Given the description of an element on the screen output the (x, y) to click on. 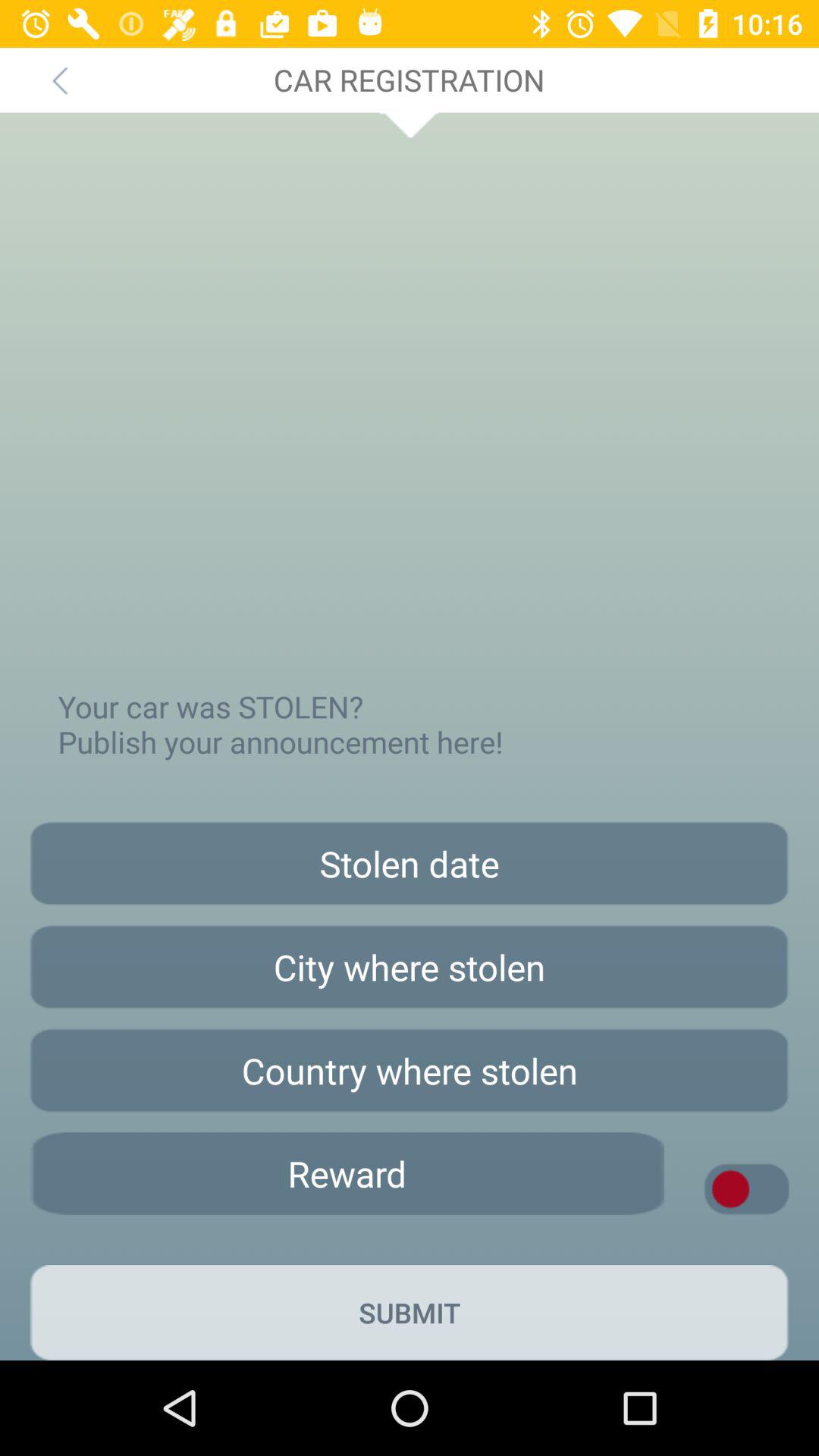
choose the reward (347, 1173)
